Given the description of an element on the screen output the (x, y) to click on. 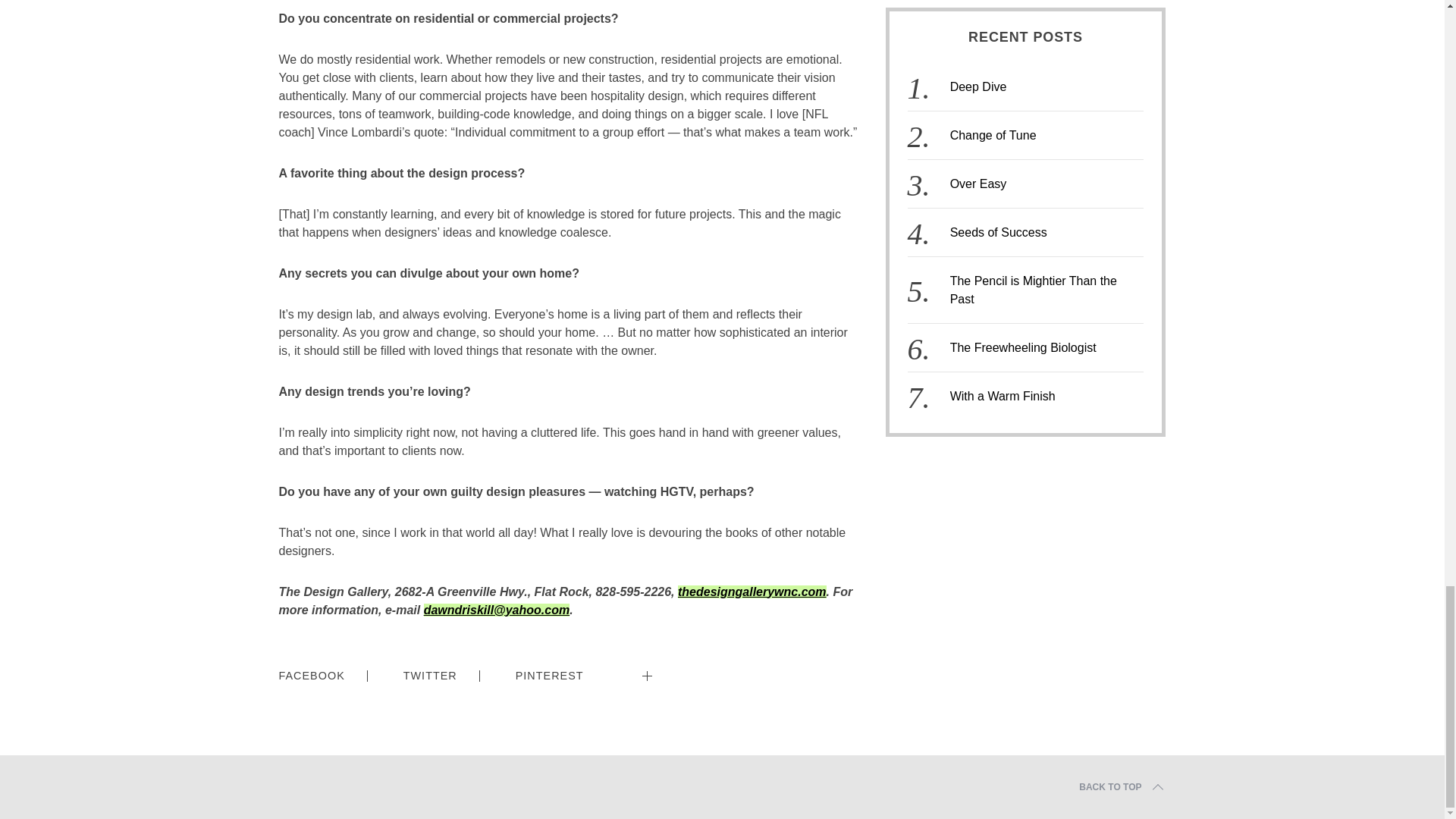
TWITTER (430, 676)
PINTEREST (549, 676)
BACK TO TOP (1122, 787)
LINKEDIN (691, 665)
